Given the description of an element on the screen output the (x, y) to click on. 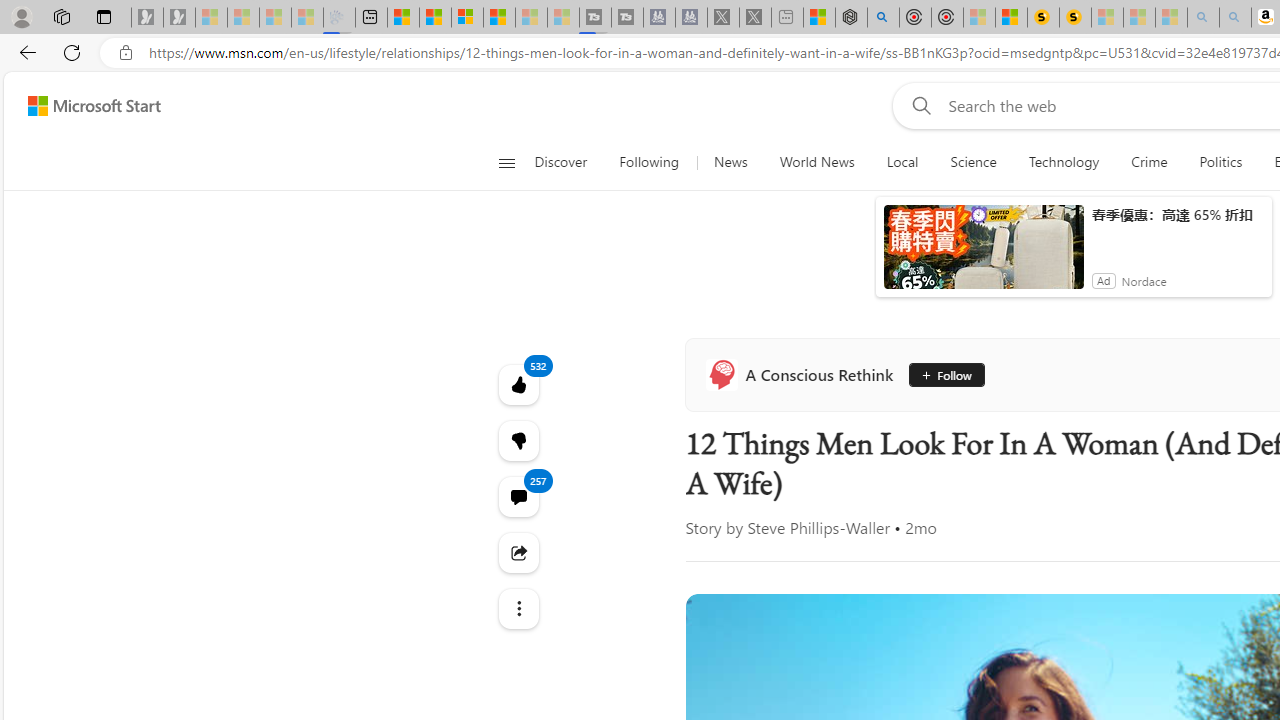
4 Like (1145, 574)
AutomationID: tab-28 (882, 576)
The Week US (1138, 507)
View comments 509 Comment (1246, 574)
